Given the description of an element on the screen output the (x, y) to click on. 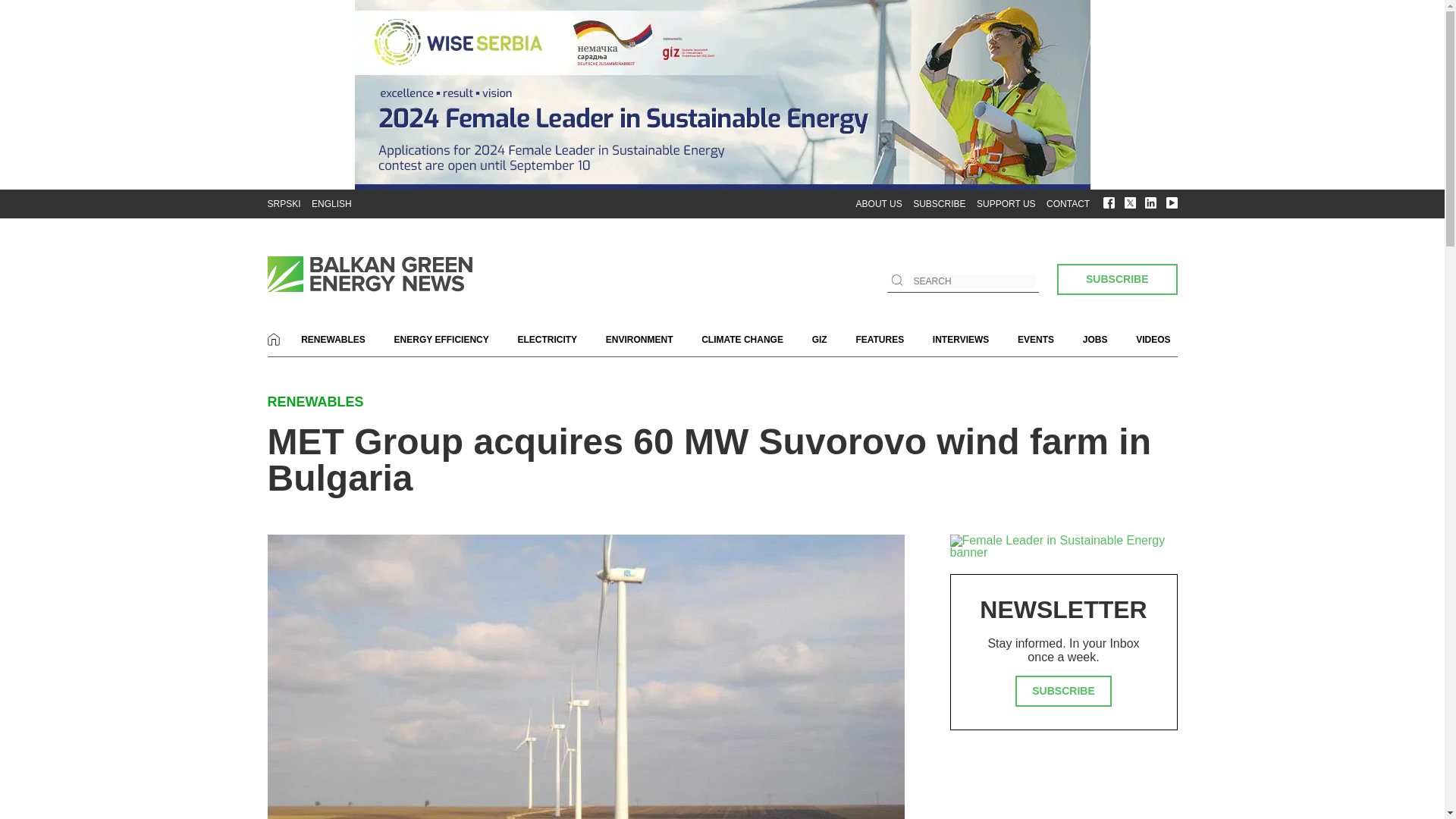
ELECTRICITY (546, 339)
JOBS (1095, 339)
ENERGY EFFICIENCY (441, 339)
ENGLISH (331, 204)
CONTACT (1067, 204)
ENVIRONMENT (639, 339)
SUBSCRIBE (1116, 278)
FEATURES (879, 339)
ABOUT US (879, 204)
RENEWABLES (333, 339)
